Given the description of an element on the screen output the (x, y) to click on. 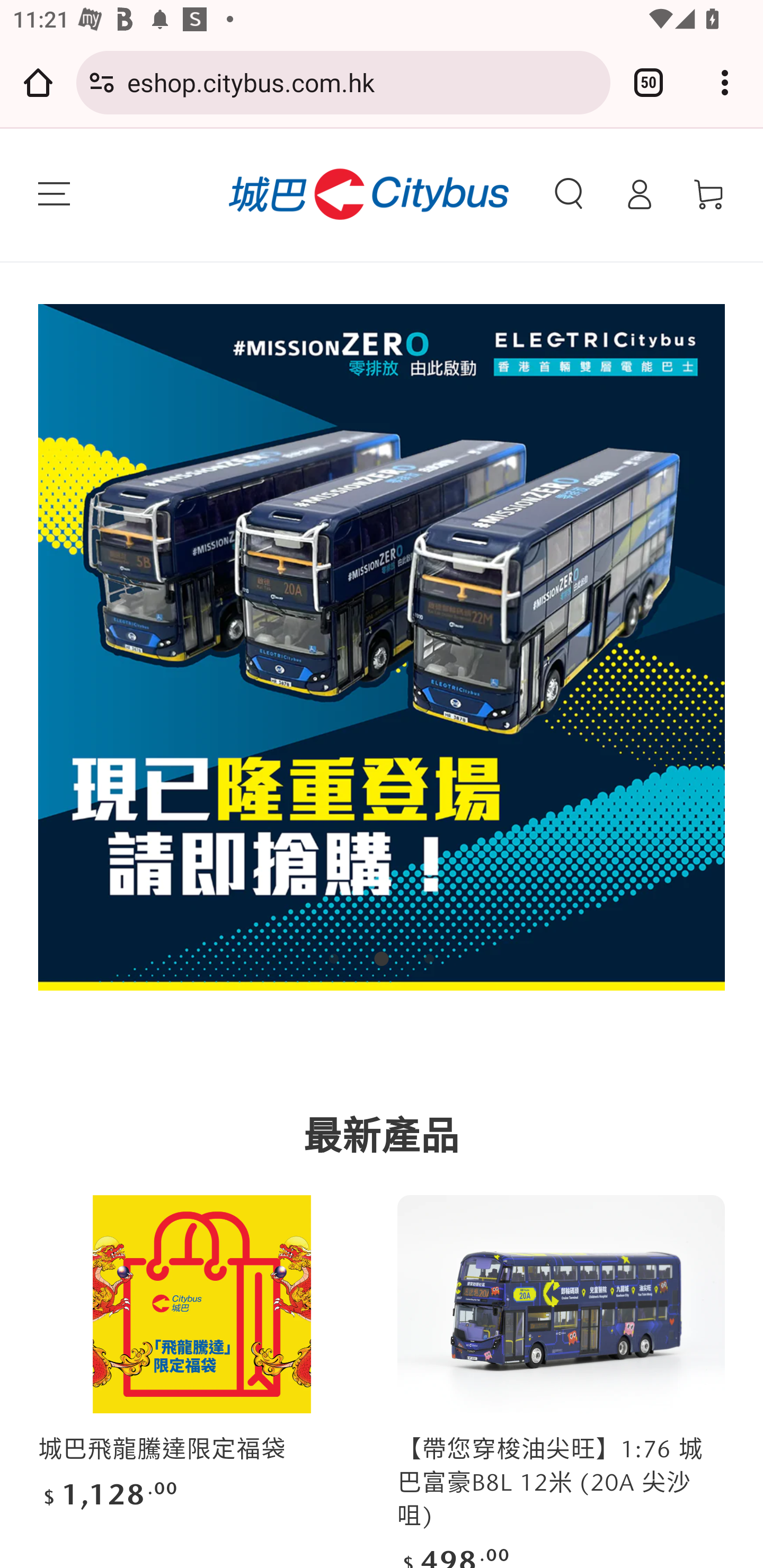
Open the home page (38, 82)
Connection is secure (101, 82)
Switch or close tabs (648, 82)
Customize and control Google Chrome (724, 82)
eshop.citybus.com.hk (362, 82)
菜單 (54, 194)
搜索我們的網站 (569, 194)
登錄 (638, 194)
購物車 (708, 194)
  (381, 647)
View slide 1 (333, 958)
View slide 2 (381, 958)
View slide 3 (429, 958)
城巴飛龍騰達限定福袋 城巴飛龍騰達限定福袋 城巴飛龍騰達限定福袋 城巴飛龍騰達限定福袋 (201, 1304)
城巴飛龍騰達限定福袋 (162, 1449)
【帶您穿梭油尖旺】1:76 城巴富豪B8L 12米 (20A 尖沙咀) (550, 1483)
